Given the description of an element on the screen output the (x, y) to click on. 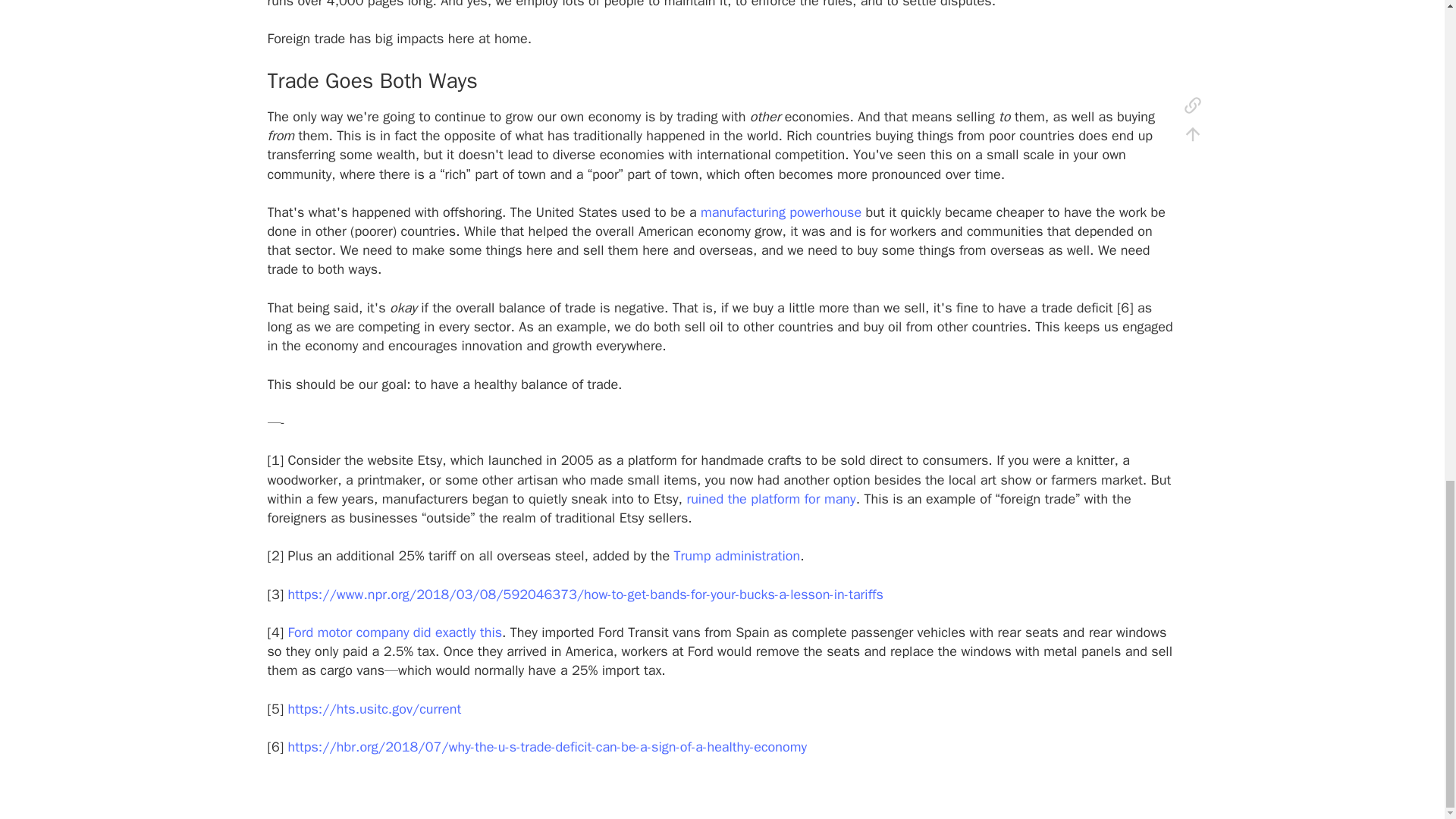
Ford motor company did exactly this (394, 632)
ruined the platform for many (770, 498)
manufacturing powerhouse (780, 211)
Trump administration (735, 555)
manufacturing (780, 211)
